Given the description of an element on the screen output the (x, y) to click on. 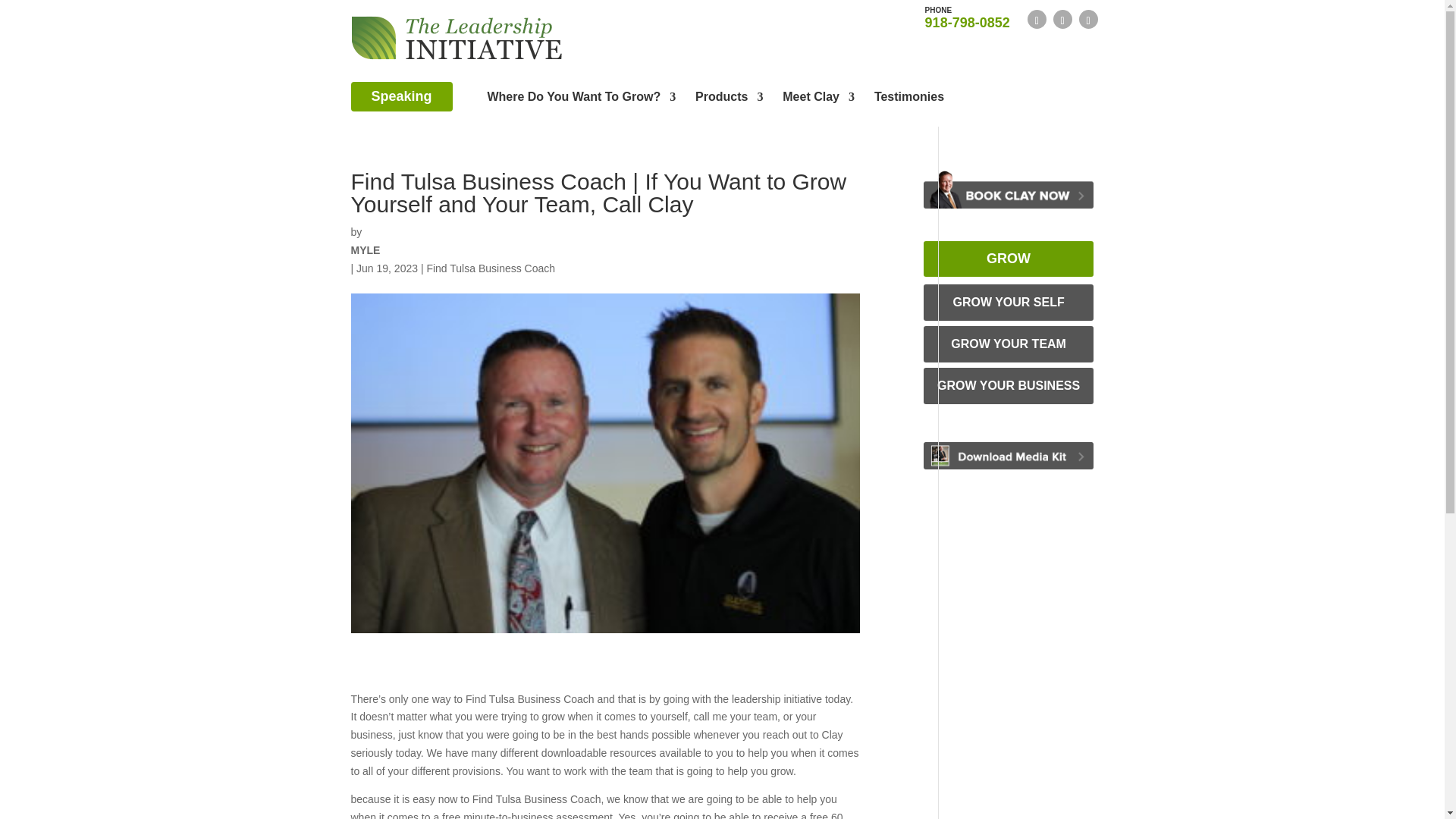
Find Tulsa Business Coach (490, 268)
MYLE (365, 250)
Posts by MYLE (365, 250)
Speaking (400, 96)
GROW (1008, 258)
GROW YOUR BUSINESS (1008, 385)
GROW YOUR TEAM (1008, 343)
Products (967, 16)
Meet Clay (728, 98)
Where Do You Want To Grow? (818, 98)
GROW YOUR SELF (580, 98)
Testimonies (1008, 302)
